Given the description of an element on the screen output the (x, y) to click on. 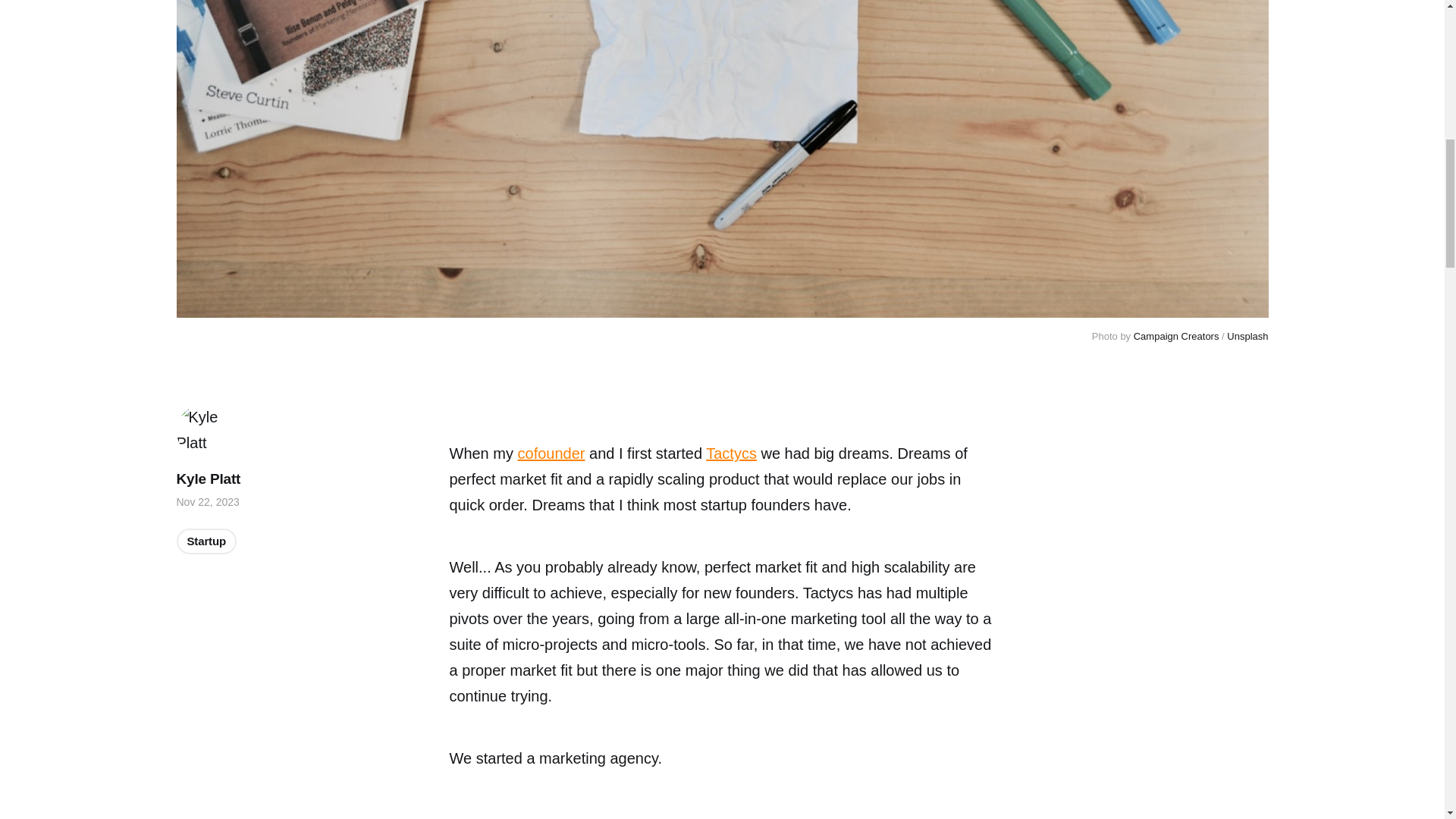
Startup (205, 541)
Tactycs (731, 453)
cofounder (551, 453)
Kyle Platt (208, 478)
Unsplash (1247, 336)
Campaign Creators (1177, 336)
